Given the description of an element on the screen output the (x, y) to click on. 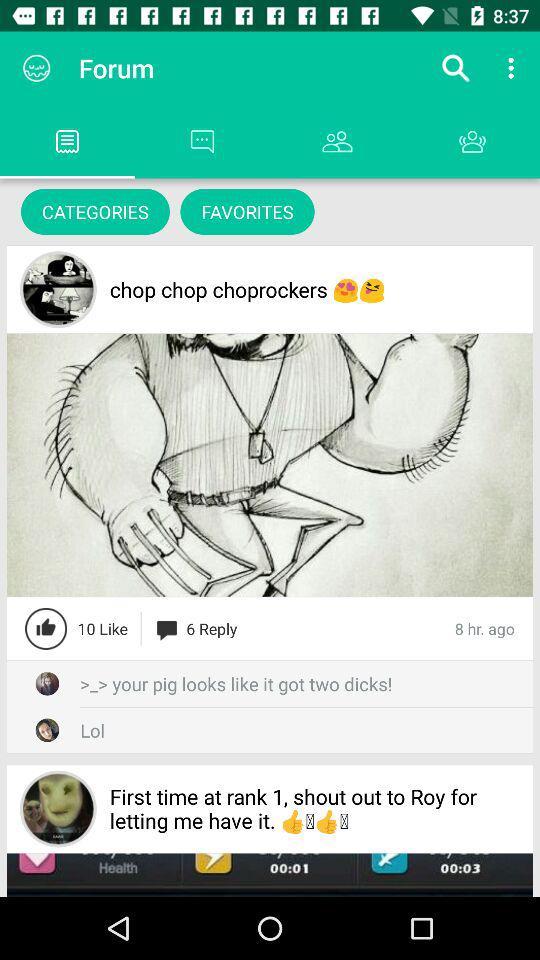
click the icon to the right of the categories (247, 211)
